Given the description of an element on the screen output the (x, y) to click on. 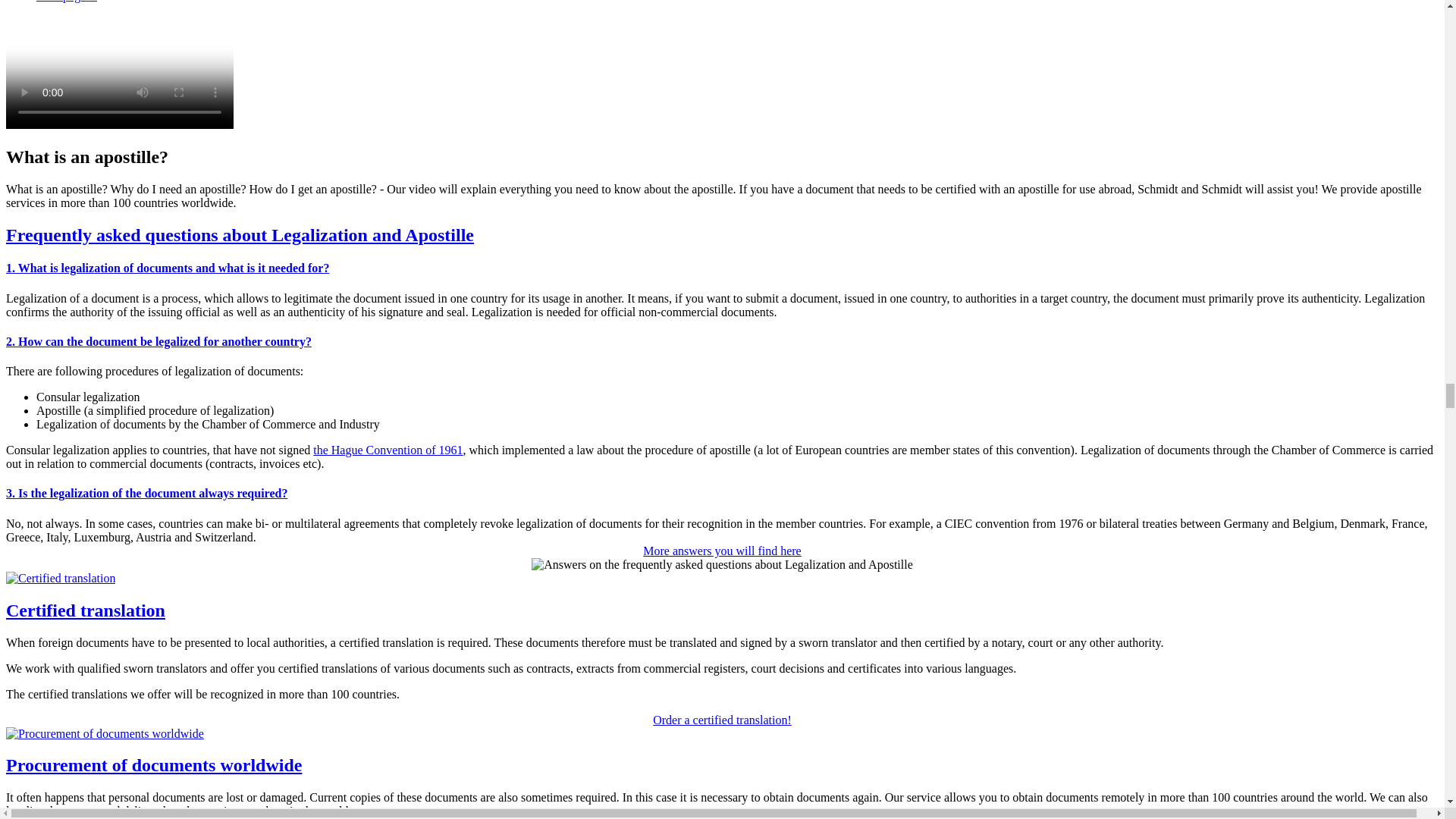
Go to next page (66, 1)
Certified translation (60, 578)
